Given the description of an element on the screen output the (x, y) to click on. 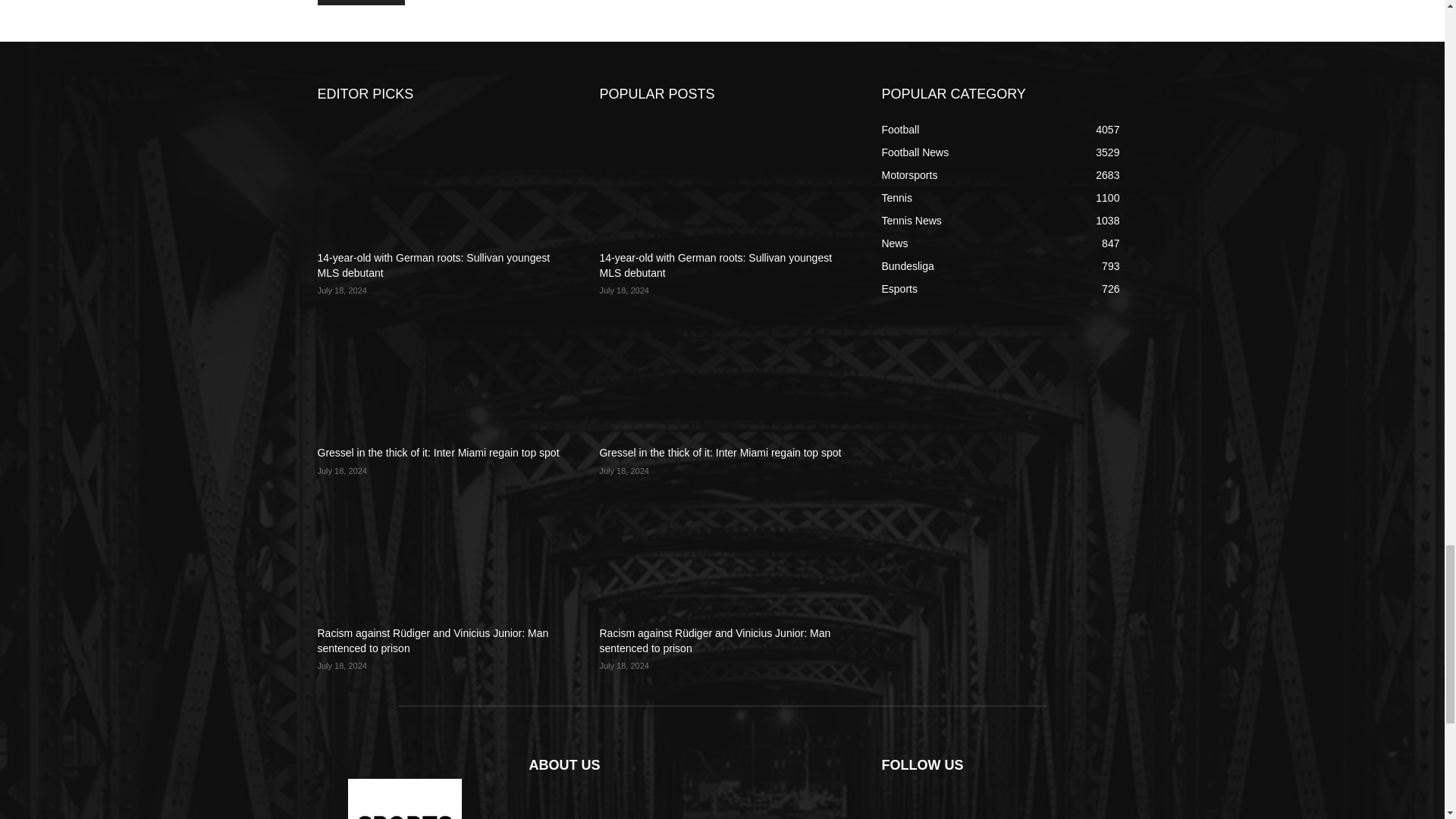
Post Comment (360, 2)
